Given the description of an element on the screen output the (x, y) to click on. 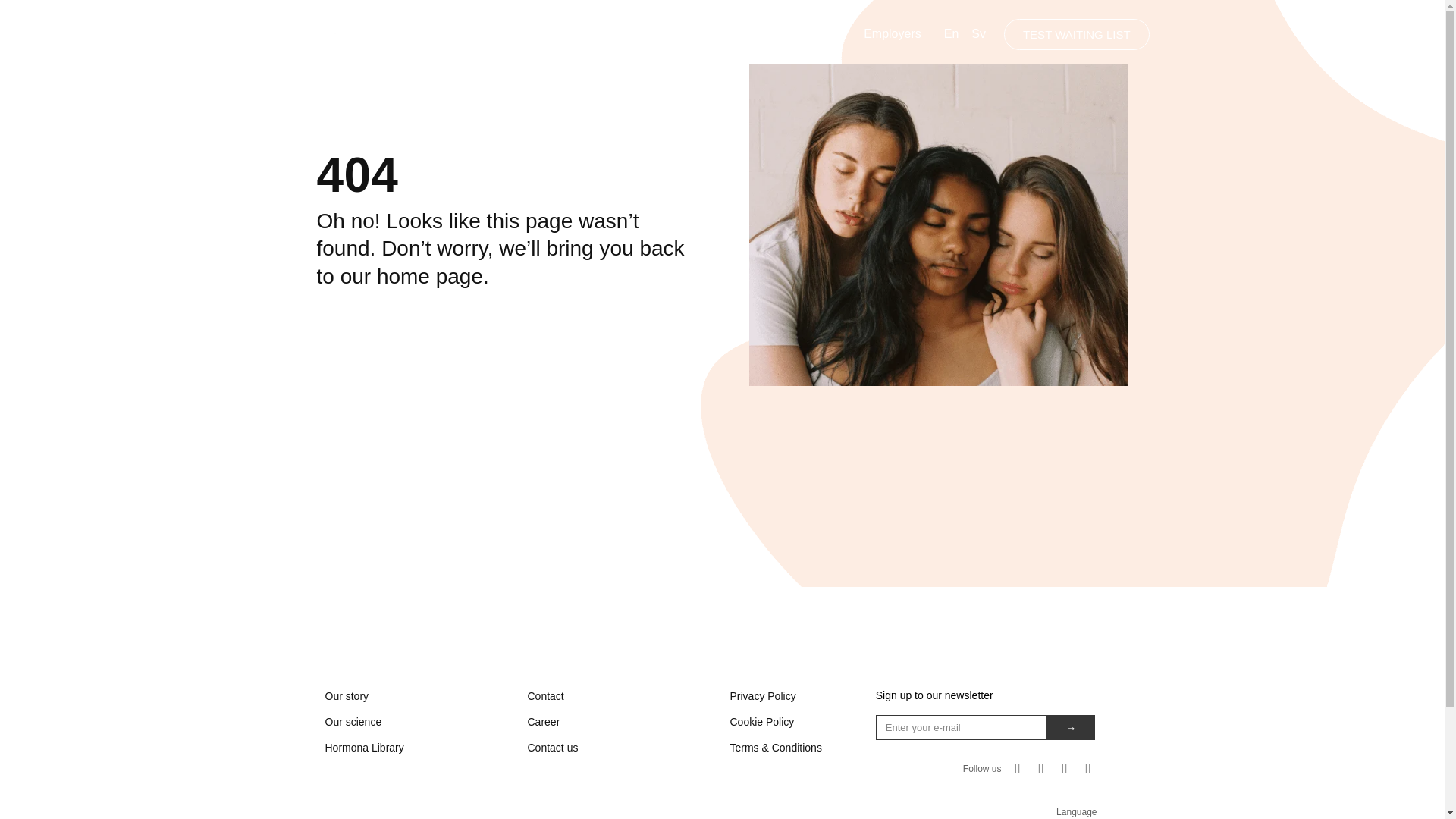
Our story (418, 695)
Sv (978, 33)
Community (682, 33)
En (951, 33)
About (604, 33)
En (951, 33)
TEST WAITING LIST (1077, 33)
Sv (978, 33)
Employers (892, 33)
Hormona Library (788, 33)
